Given the description of an element on the screen output the (x, y) to click on. 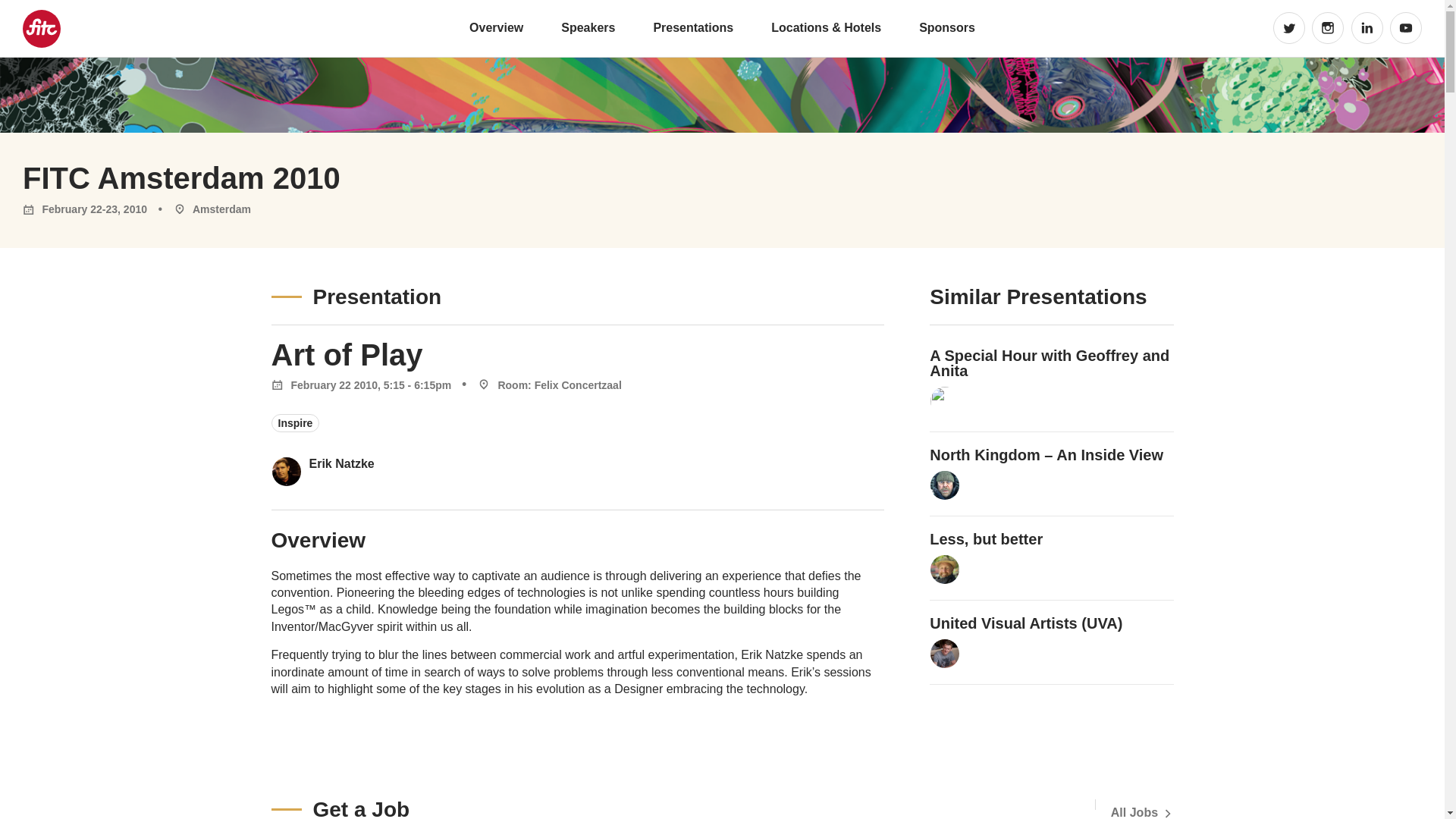
linkedin (1367, 28)
Speakers (587, 27)
youtube (1406, 28)
Overview (495, 27)
February 22-23, 2010 (85, 208)
Champagne Valentine (944, 400)
Less, but better (986, 539)
All Jobs (1141, 812)
Hoss Gifford (944, 569)
FITC (40, 27)
